Given the description of an element on the screen output the (x, y) to click on. 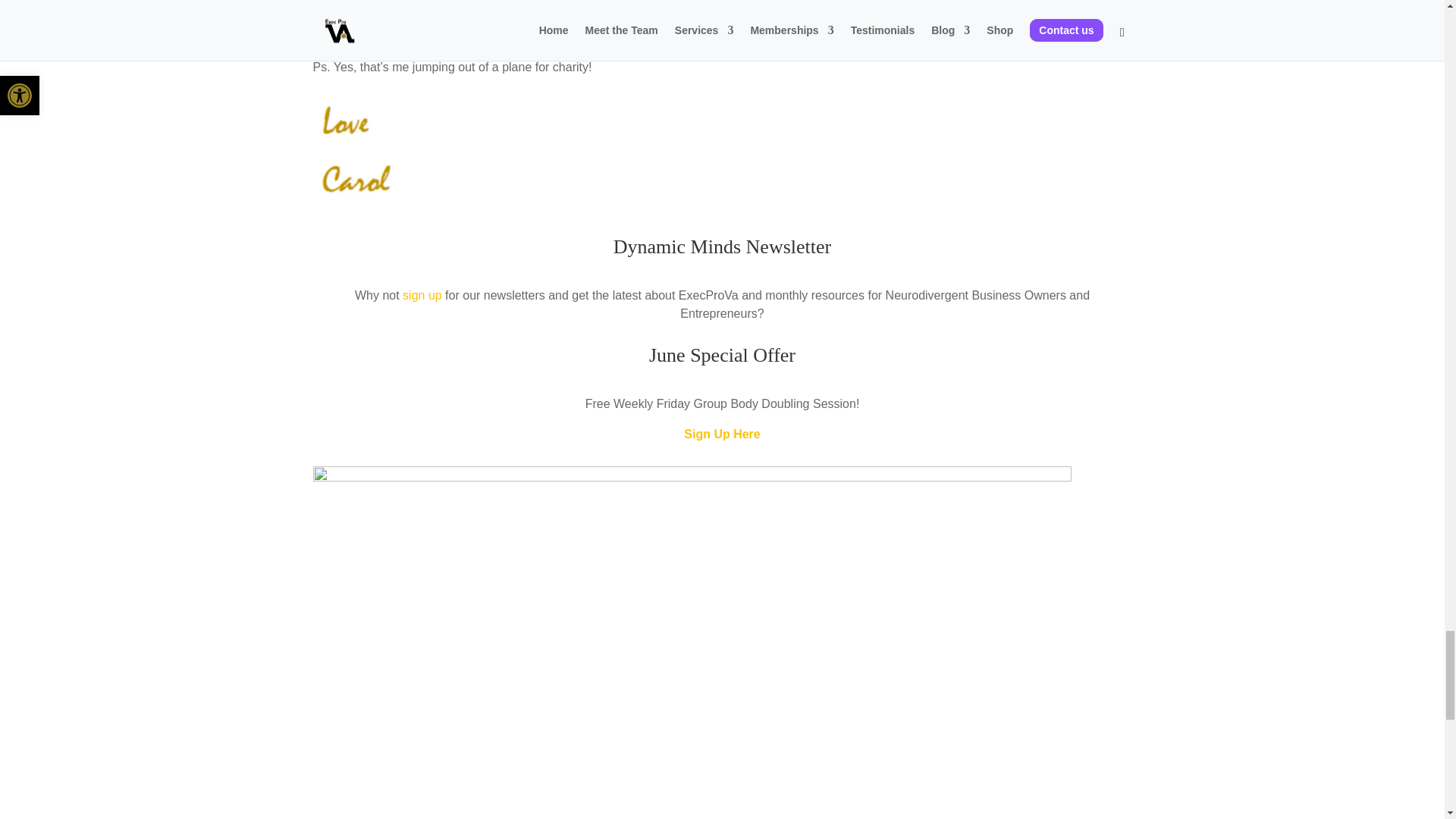
Carol's sign off (354, 148)
sign up (422, 295)
Sign Up Here (722, 433)
